Given the description of an element on the screen output the (x, y) to click on. 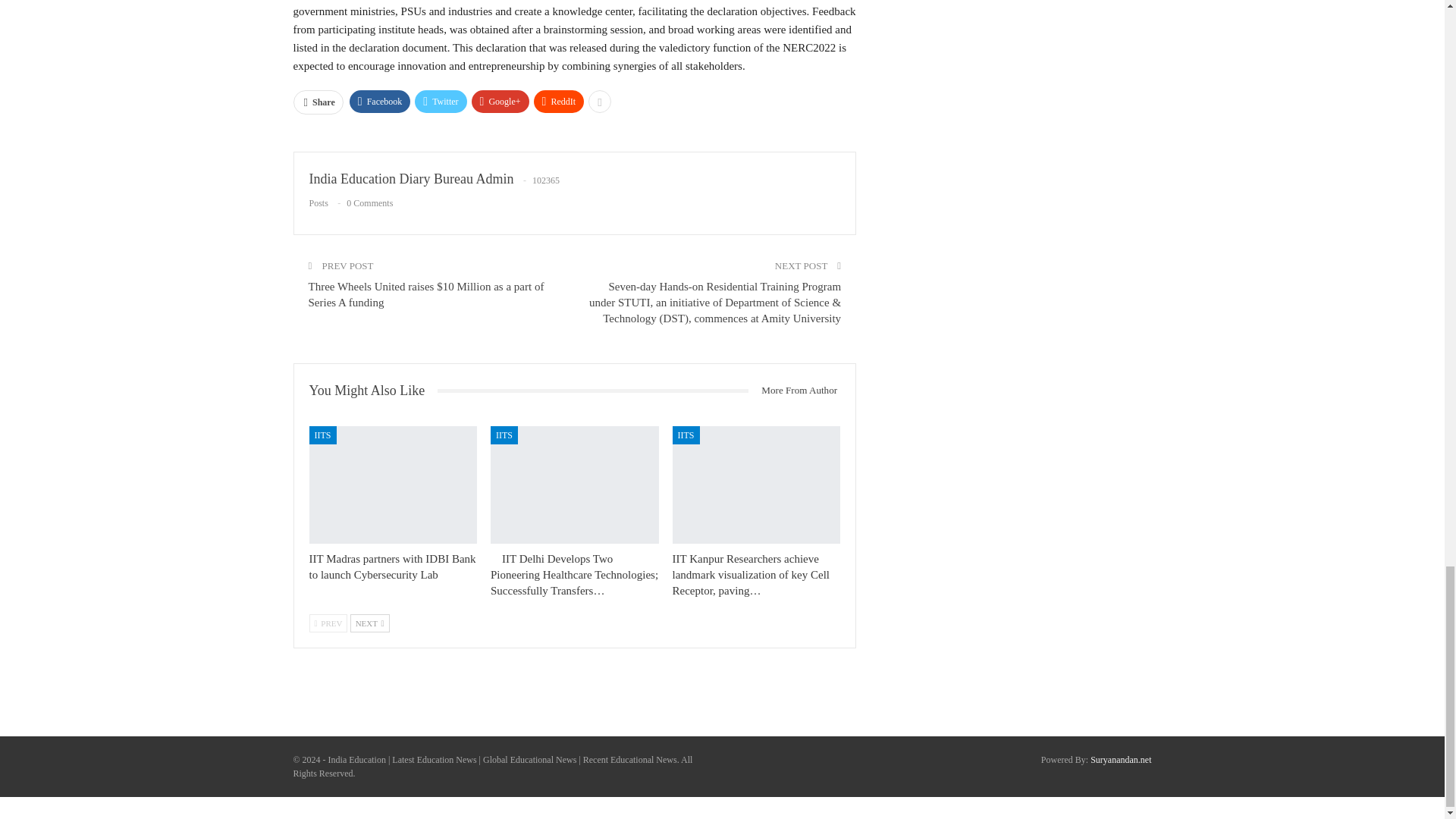
Next (370, 623)
Previous (327, 623)
